Given the description of an element on the screen output the (x, y) to click on. 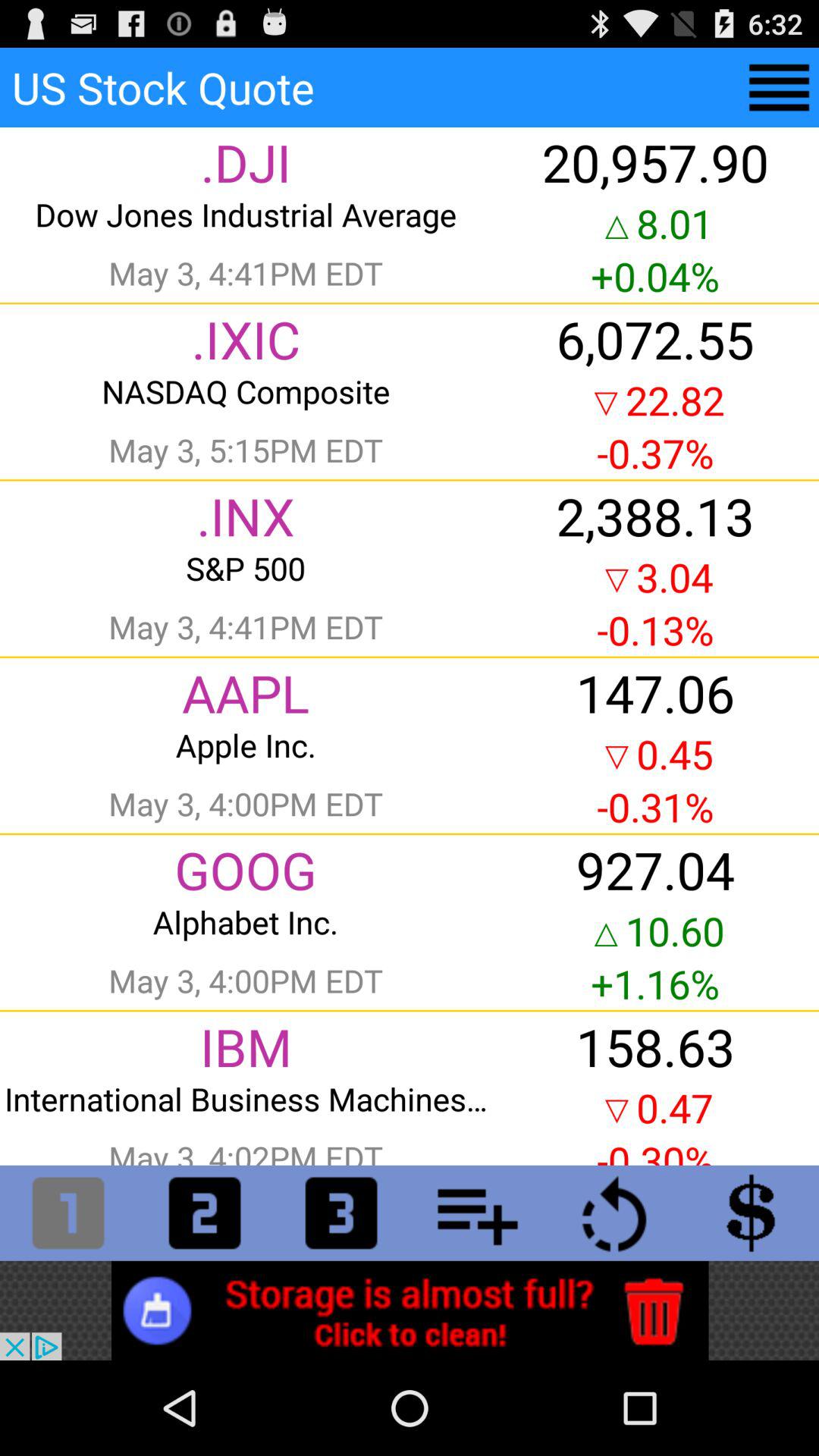
go to add button (477, 1212)
